Given the description of an element on the screen output the (x, y) to click on. 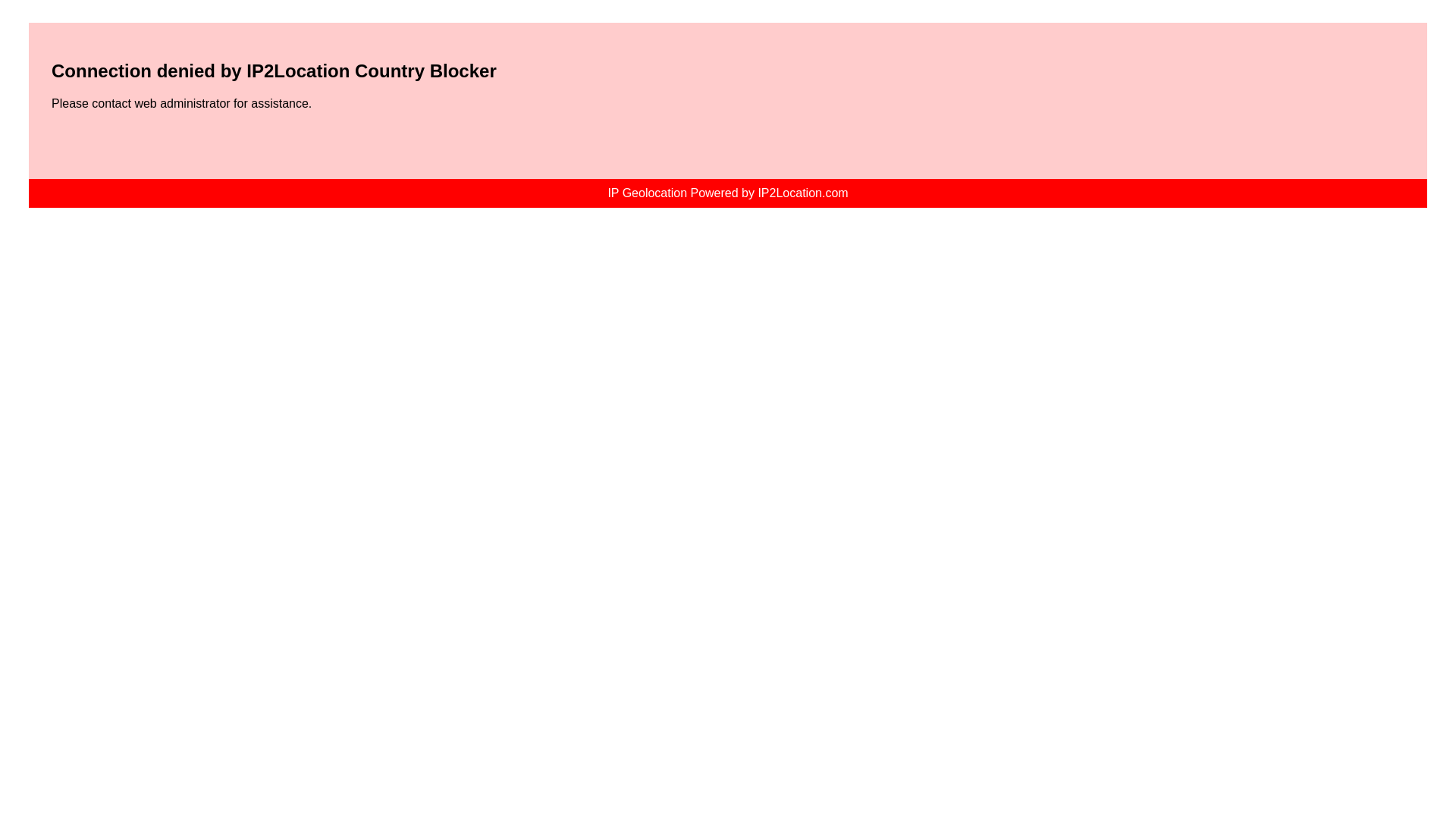
IP Geolocation Powered by IP2Location.com (727, 192)
